Given the description of an element on the screen output the (x, y) to click on. 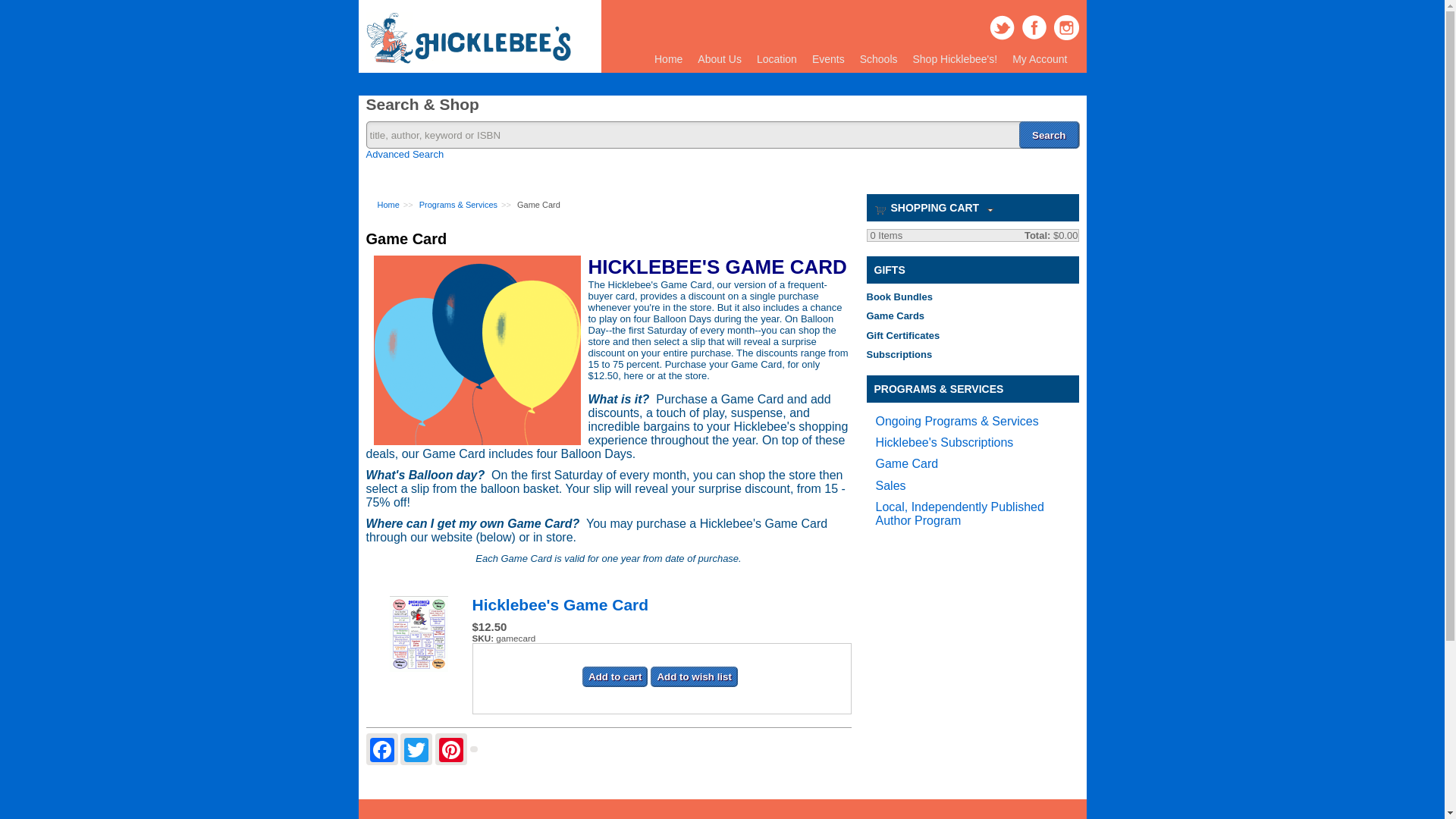
Home (668, 58)
Search (1048, 134)
Advanced Search (404, 153)
About Us (719, 58)
Events (828, 58)
Add to wish list (693, 676)
Home (467, 60)
My Account (1039, 58)
Add to cart (614, 676)
Search (1048, 134)
